Given the description of an element on the screen output the (x, y) to click on. 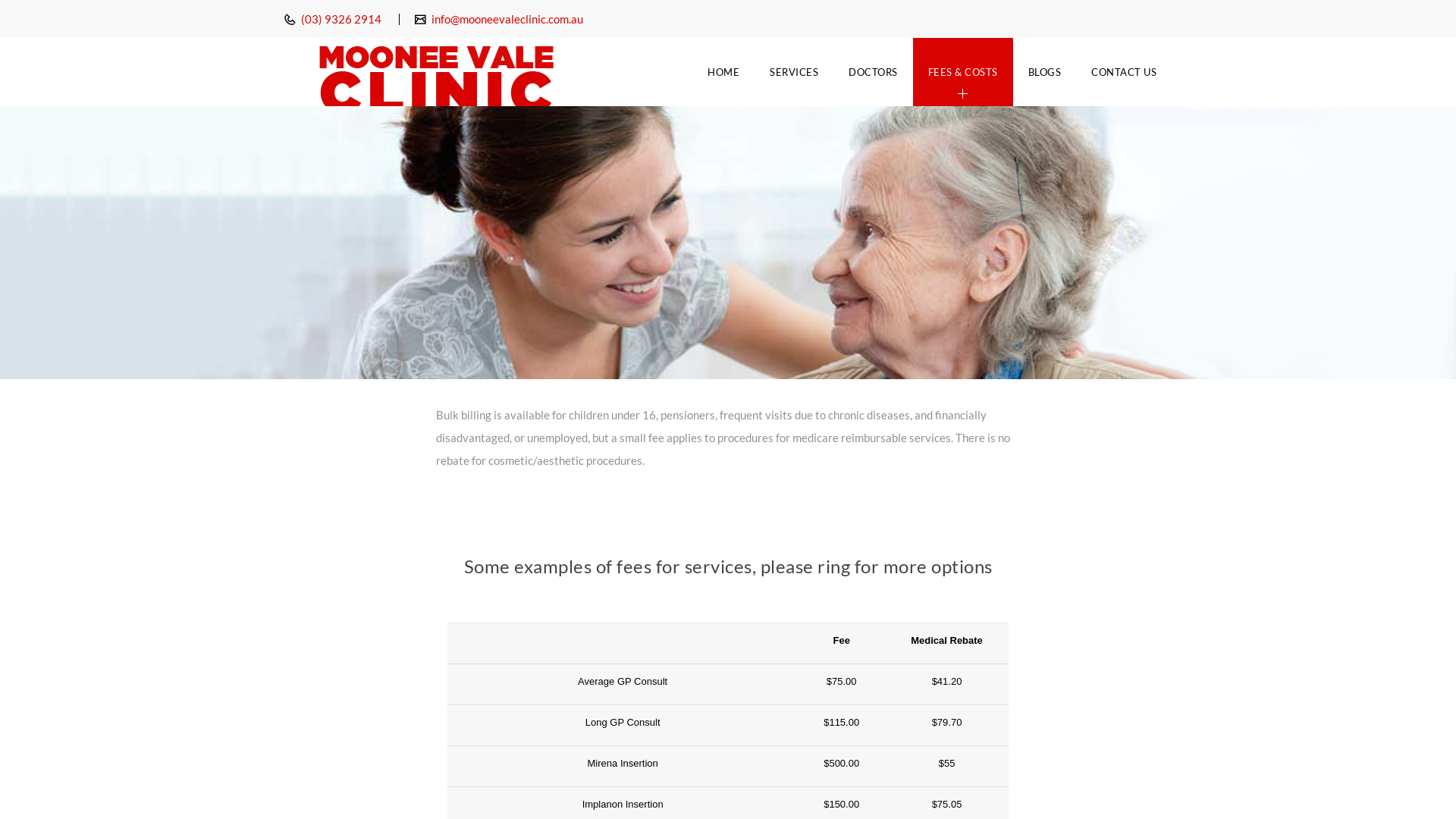
DOCTORS Element type: text (873, 71)
info@mooneevaleclinic.com.au Element type: text (506, 18)
BLOGS Element type: text (1044, 71)
(03) 9326 2914 Element type: text (339, 18)
FEES & COSTS Element type: text (963, 71)
Moonee Vale Clinic Element type: hover (435, 71)
Moonee Vale Clinic Element type: hover (435, 71)
CONTACT US Element type: text (1123, 71)
SERVICES Element type: text (793, 71)
HOME Element type: text (723, 71)
